Given the description of an element on the screen output the (x, y) to click on. 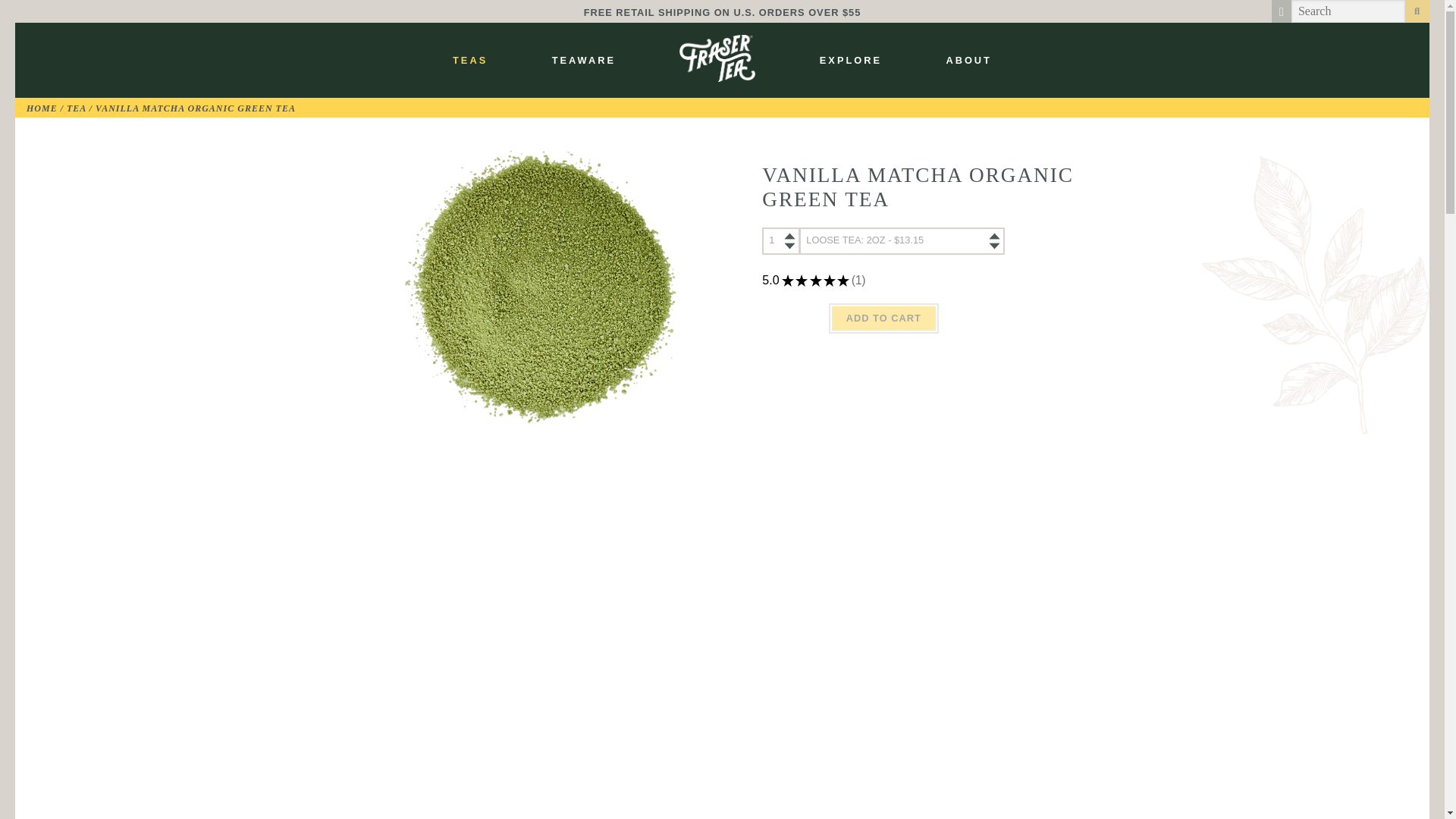
Add to cart (883, 318)
TEAS (469, 60)
